Given the description of an element on the screen output the (x, y) to click on. 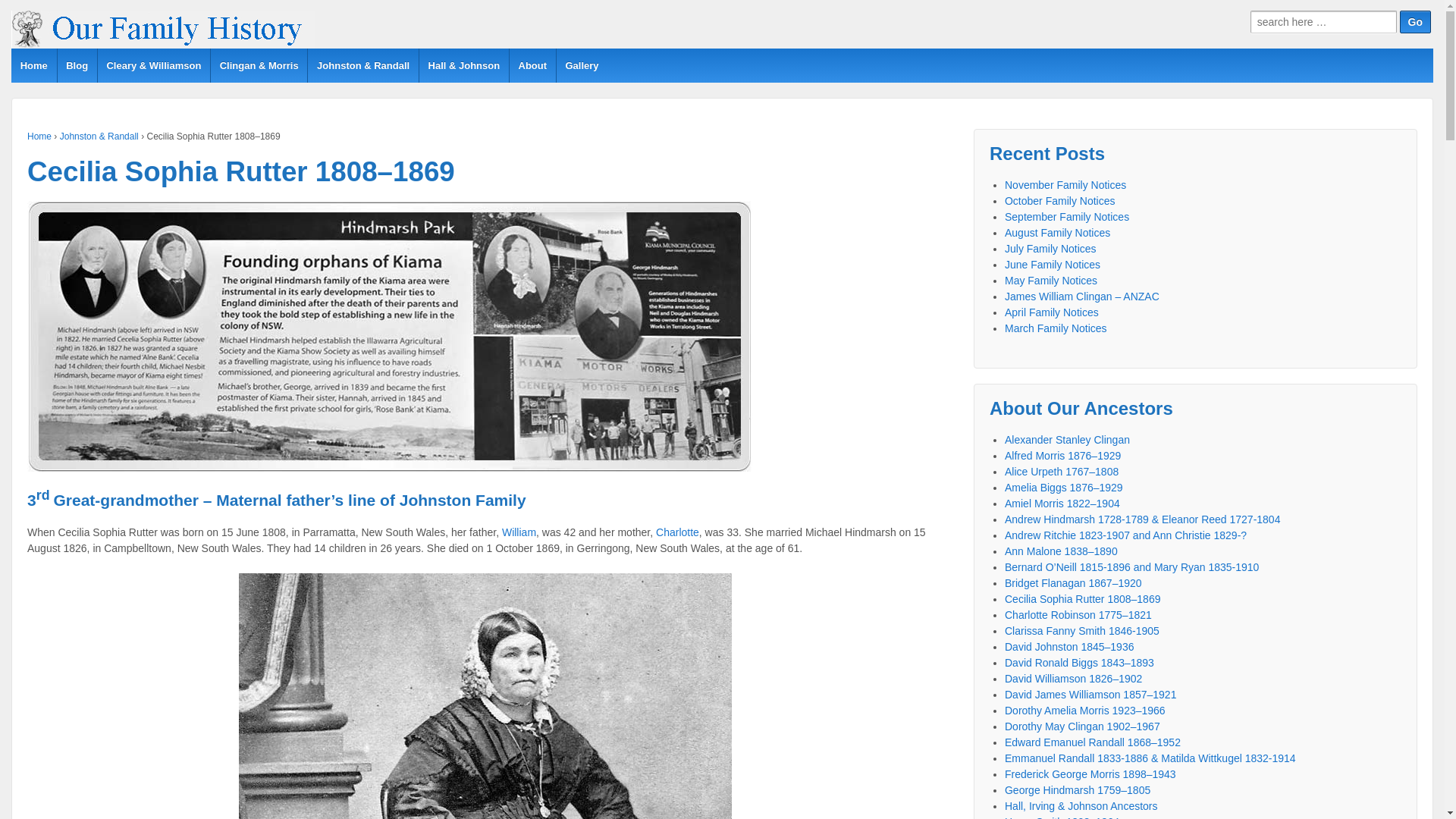
Go Element type: text (1414, 21)
August Family Notices Element type: text (1057, 232)
September Family Notices Element type: text (1066, 216)
Clarissa Fanny Smith 1846-1905 Element type: text (1081, 630)
Alexander Stanley Clingan Element type: text (1066, 439)
Hall, Irving & Johnson Ancestors Element type: text (1080, 806)
Hall & Johnson Element type: text (463, 65)
July Family Notices Element type: text (1050, 248)
Johnston & Randall Element type: text (362, 65)
About Element type: text (531, 65)
March Family Notices Element type: text (1055, 328)
William Element type: text (519, 532)
Johnston & Randall Element type: text (98, 136)
April Family Notices Element type: text (1051, 312)
Andrew Ritchie 1823-1907 and Ann Christie 1829-? Element type: text (1125, 535)
Home Element type: text (33, 65)
Cleary & Williamson Element type: text (153, 65)
Gallery Element type: text (581, 65)
Andrew Hindmarsh 1728-1789 & Eleanor Reed 1727-1804 Element type: text (1142, 519)
May Family Notices Element type: text (1050, 280)
October Family Notices Element type: text (1059, 200)
June Family Notices Element type: text (1052, 264)
Emmanuel Randall 1833-1886 & Matilda Wittkugel 1832-1914 Element type: text (1149, 758)
Blog Element type: text (76, 65)
November Family Notices Element type: text (1065, 184)
Home Element type: text (39, 136)
Clingan & Morris Element type: text (258, 65)
Charlotte Element type: text (677, 532)
